Given the description of an element on the screen output the (x, y) to click on. 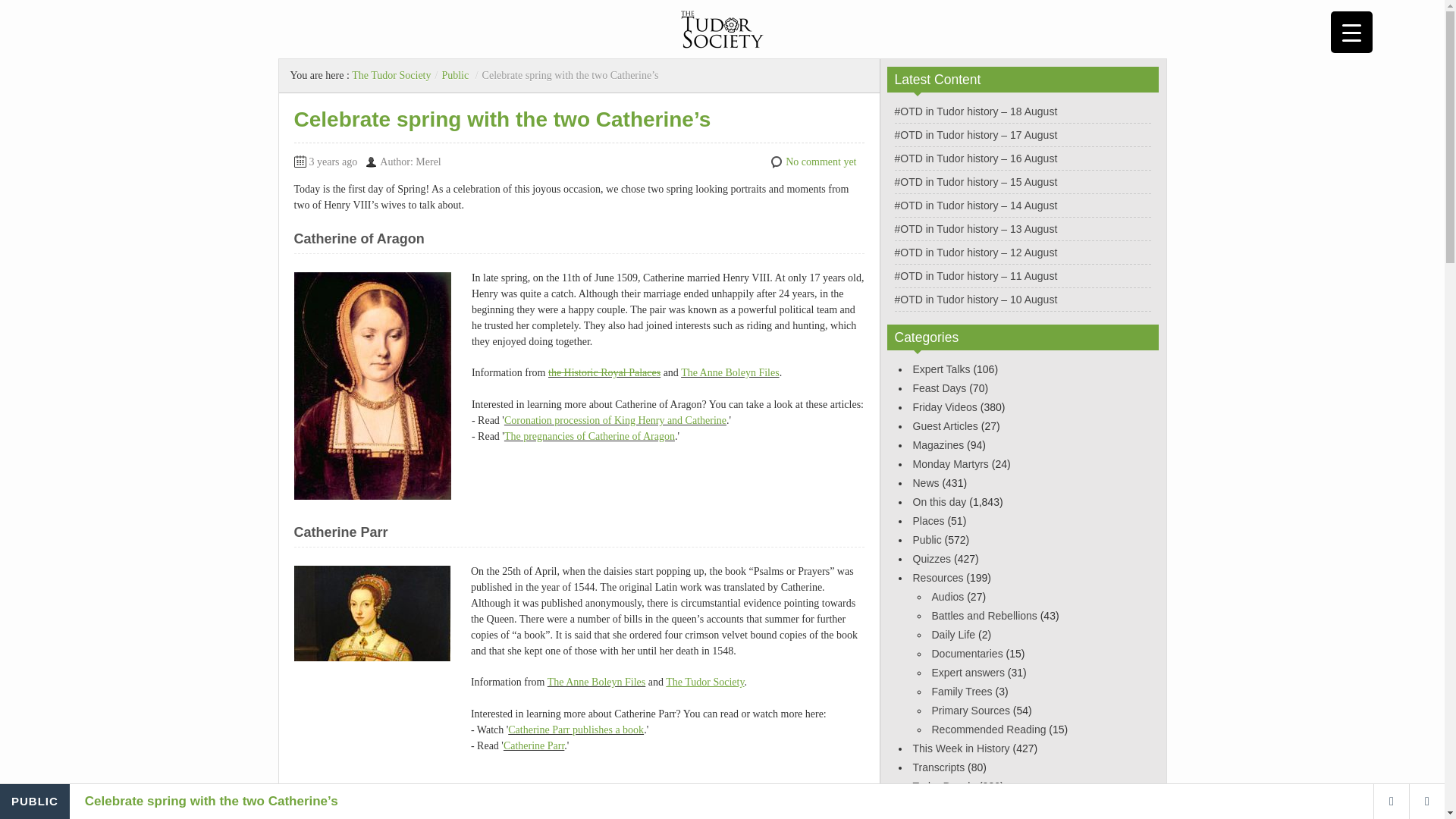
No comment yet (821, 161)
The pregnancies of Catherine of Aragon (589, 436)
The Tudor Society (391, 75)
The Tudor Society (704, 681)
Coronation procession of King Henry and Catherine (614, 419)
The Anne Boleyn Files (596, 681)
Catherine Parr (533, 745)
The Anne Boleyn Files (729, 372)
Catherine Parr publishes a book (575, 729)
the Historic Royal Palaces (604, 372)
